Given the description of an element on the screen output the (x, y) to click on. 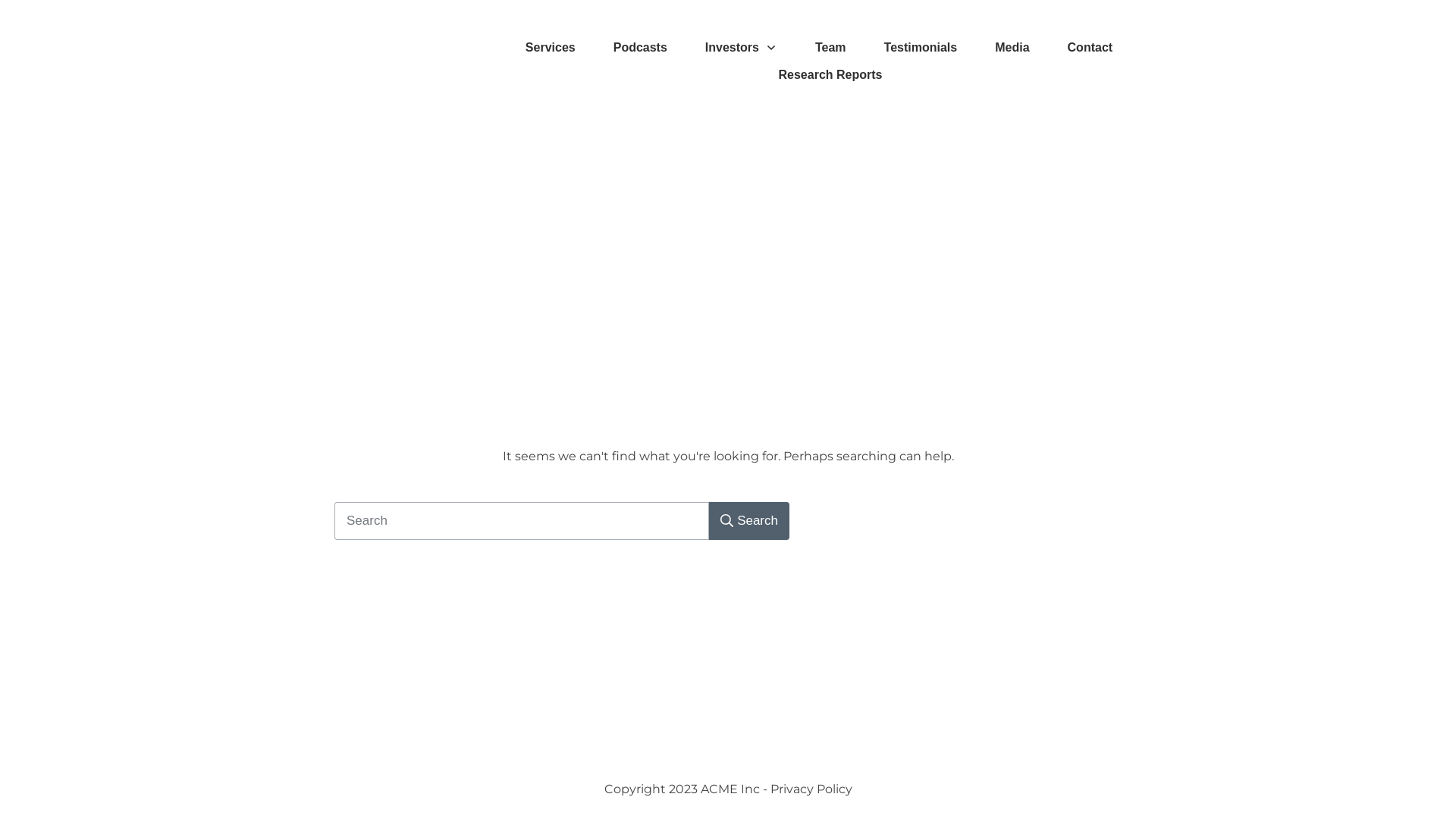
Research Reports Element type: text (830, 74)
Team Element type: text (830, 47)
Testimonials Element type: text (920, 47)
Media Element type: text (1011, 47)
Contact Element type: text (1090, 47)
Podcasts Element type: text (640, 47)
Search Element type: text (749, 520)
Privacy Policy Element type: text (811, 788)
Investors Element type: text (741, 47)
Services Element type: text (550, 47)
